Given the description of an element on the screen output the (x, y) to click on. 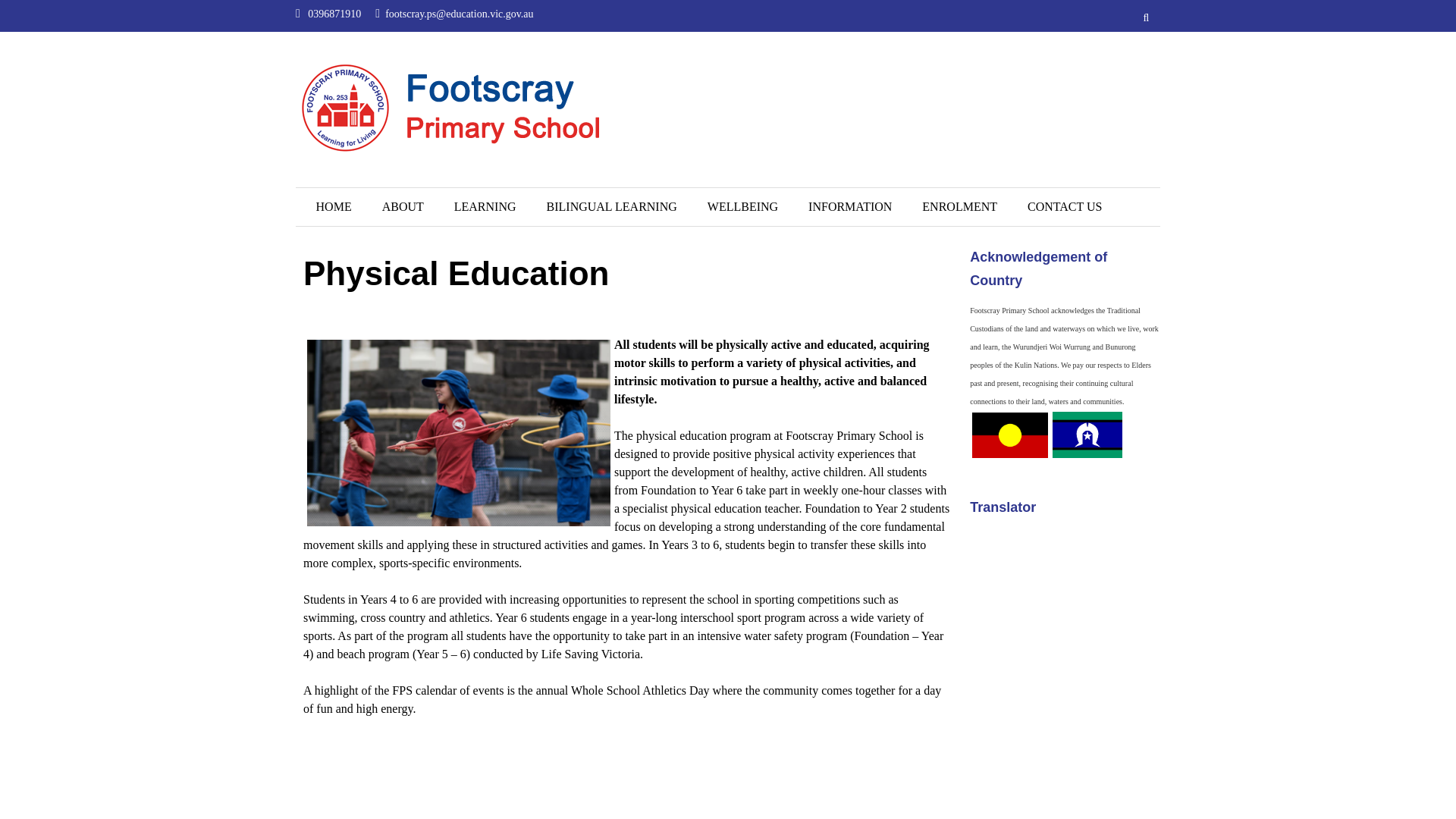
LEARNING (485, 207)
ABOUT (402, 207)
HOME (333, 207)
WELLBEING (743, 207)
INFORMATION (850, 207)
BILINGUAL LEARNING (612, 207)
